Given the description of an element on the screen output the (x, y) to click on. 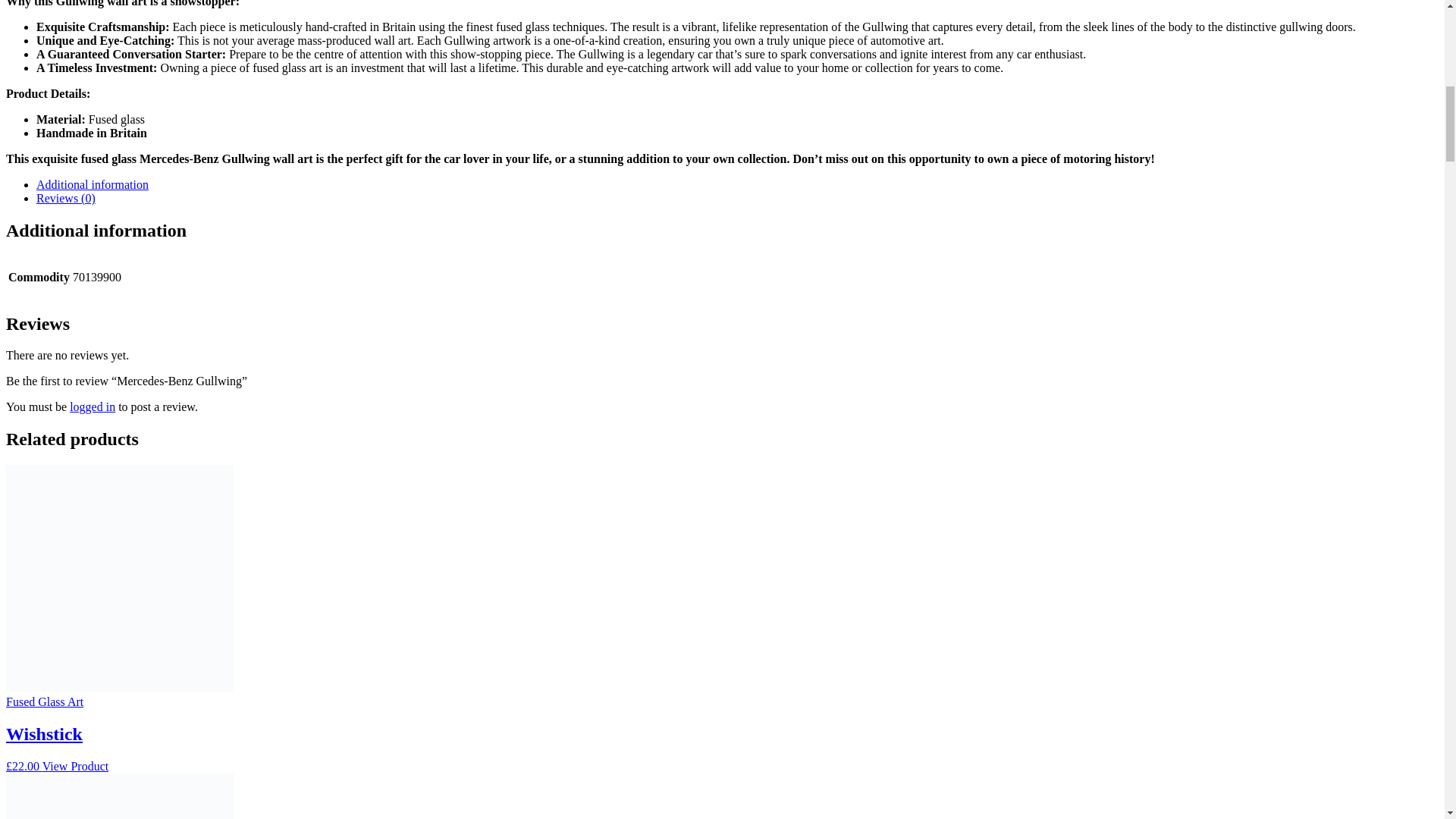
Additional information (92, 184)
